Given the description of an element on the screen output the (x, y) to click on. 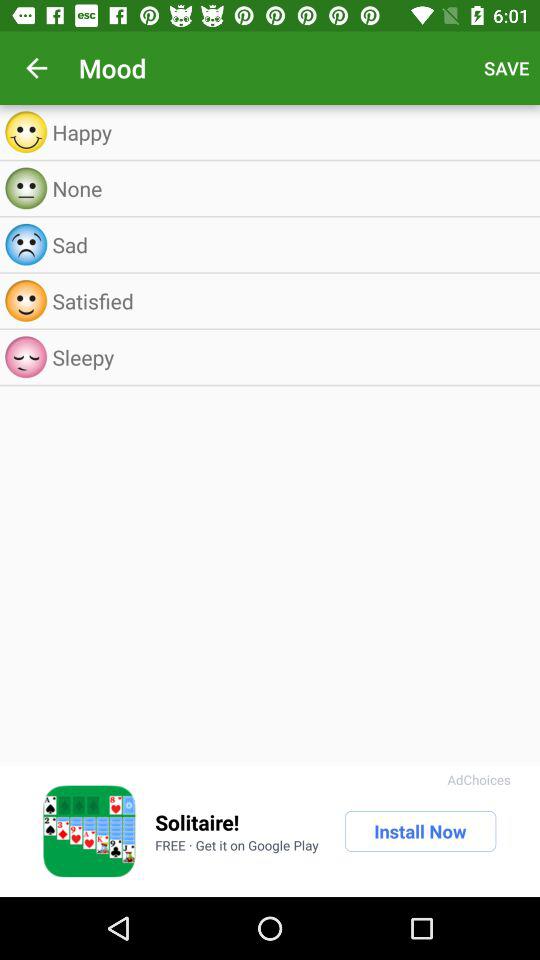
select item above  sad item (290, 188)
